Given the description of an element on the screen output the (x, y) to click on. 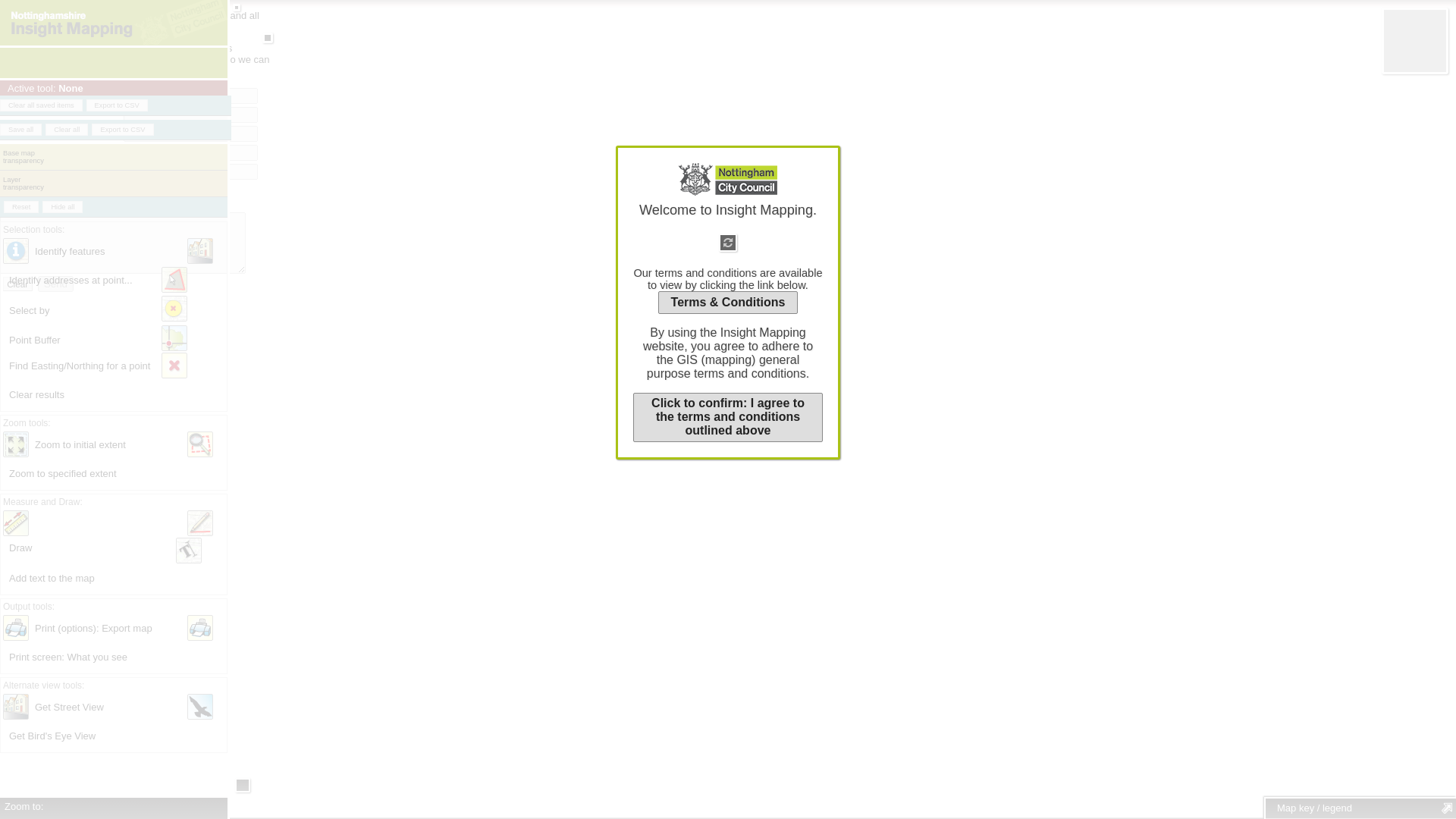
Save all (21, 129)
Clear results - clears the contents of the Results pane (174, 365)
Results (113, 133)
Clear (17, 283)
Print Map - Just print what you see (199, 627)
Send (55, 283)
Reset (21, 206)
Clear all (66, 129)
Clear all saved items (41, 105)
